Given the description of an element on the screen output the (x, y) to click on. 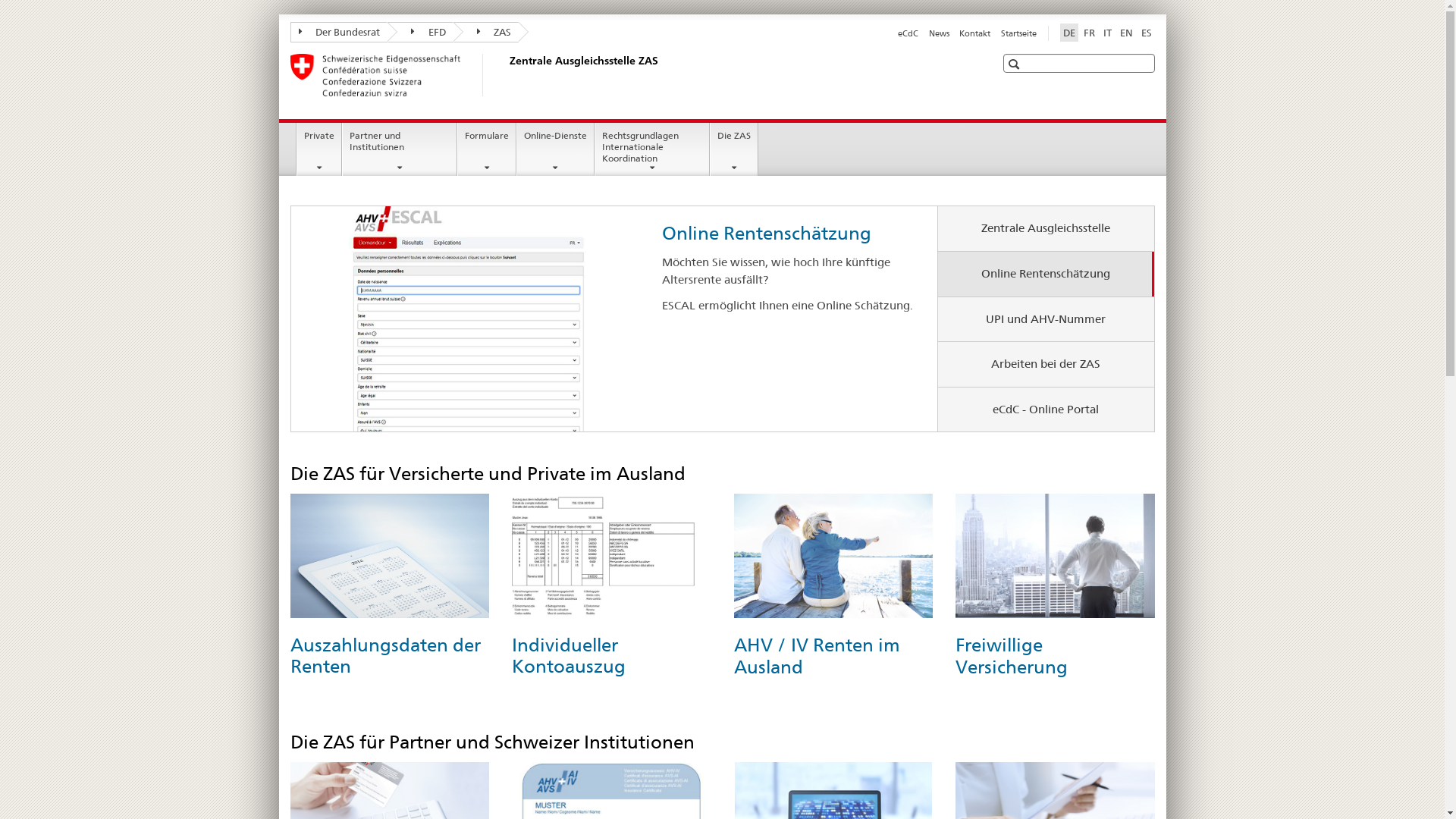
EN Element type: text (1125, 32)
FR Element type: text (1088, 32)
Die ZAS Element type: text (733, 148)
Kontakt Element type: text (974, 33)
Partner und Institutionen Element type: text (399, 148)
Zentrale Ausgleichsstelle Element type: text (1046, 228)
eCdC Element type: text (907, 33)
Arbeiten bei der ZAS Element type: text (1046, 364)
eCdC - Online Portal Element type: text (1046, 409)
Formulare Element type: text (486, 148)
EFD Element type: text (420, 31)
Zentrale Ausgleichsstelle ZAS Element type: text (505, 74)
DE Element type: text (1069, 32)
UPI und AHV-Nummer Element type: text (1046, 319)
Rechtsgrundlagen Internationale Koordination Element type: text (652, 148)
Zentrale Ausgleichsstelle ZAS Element type: text (783, 233)
ZAS Element type: text (486, 31)
Private Element type: text (319, 148)
IT Element type: text (1106, 32)
AHV / IV Renten im Ausland Element type: text (817, 655)
Der Bundesrat Element type: text (338, 31)
News Element type: text (938, 33)
Startseite Element type: text (1018, 33)
Freiwillige Versicherung Element type: text (1011, 655)
Auszahlungsdaten der Renten Element type: text (384, 655)
ES Element type: text (1145, 32)
Individueller Kontoauszug Element type: text (568, 655)
Online-Dienste Element type: text (555, 148)
